Given the description of an element on the screen output the (x, y) to click on. 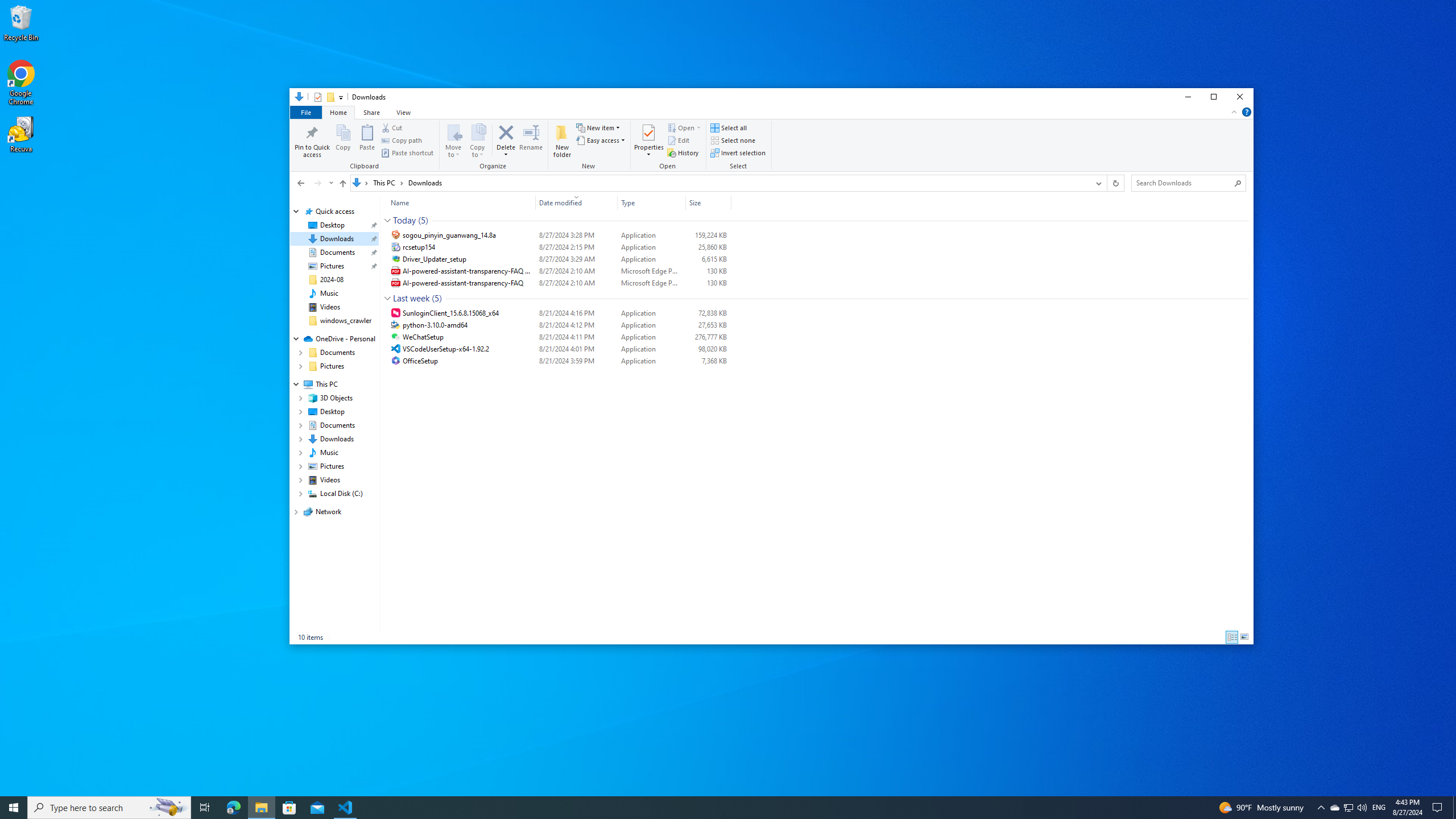
Share (371, 111)
SunloginClient_15.6.8.15068_x64 (558, 313)
VSCodeUserSetup-x64-1.92.2 (558, 349)
Size (707, 360)
Edit (678, 140)
sogou_pinyin_guanwang_14.8a (558, 235)
Running applications (706, 807)
Select all (728, 128)
Up band toolbar (342, 184)
Downloads (425, 182)
History (682, 152)
Pictures (pinned) (331, 265)
